Given the description of an element on the screen output the (x, y) to click on. 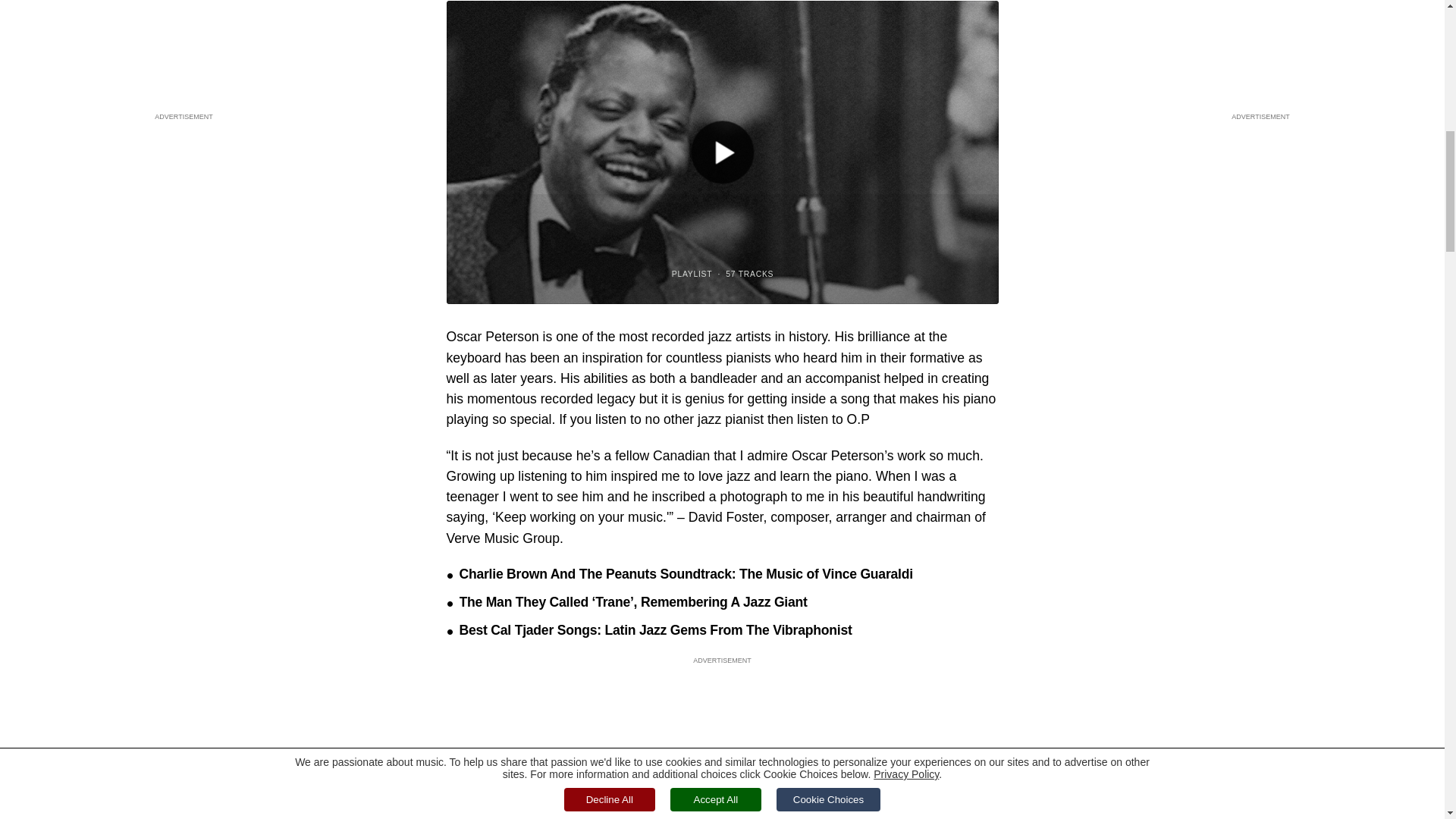
3rd party ad content (721, 699)
